Given the description of an element on the screen output the (x, y) to click on. 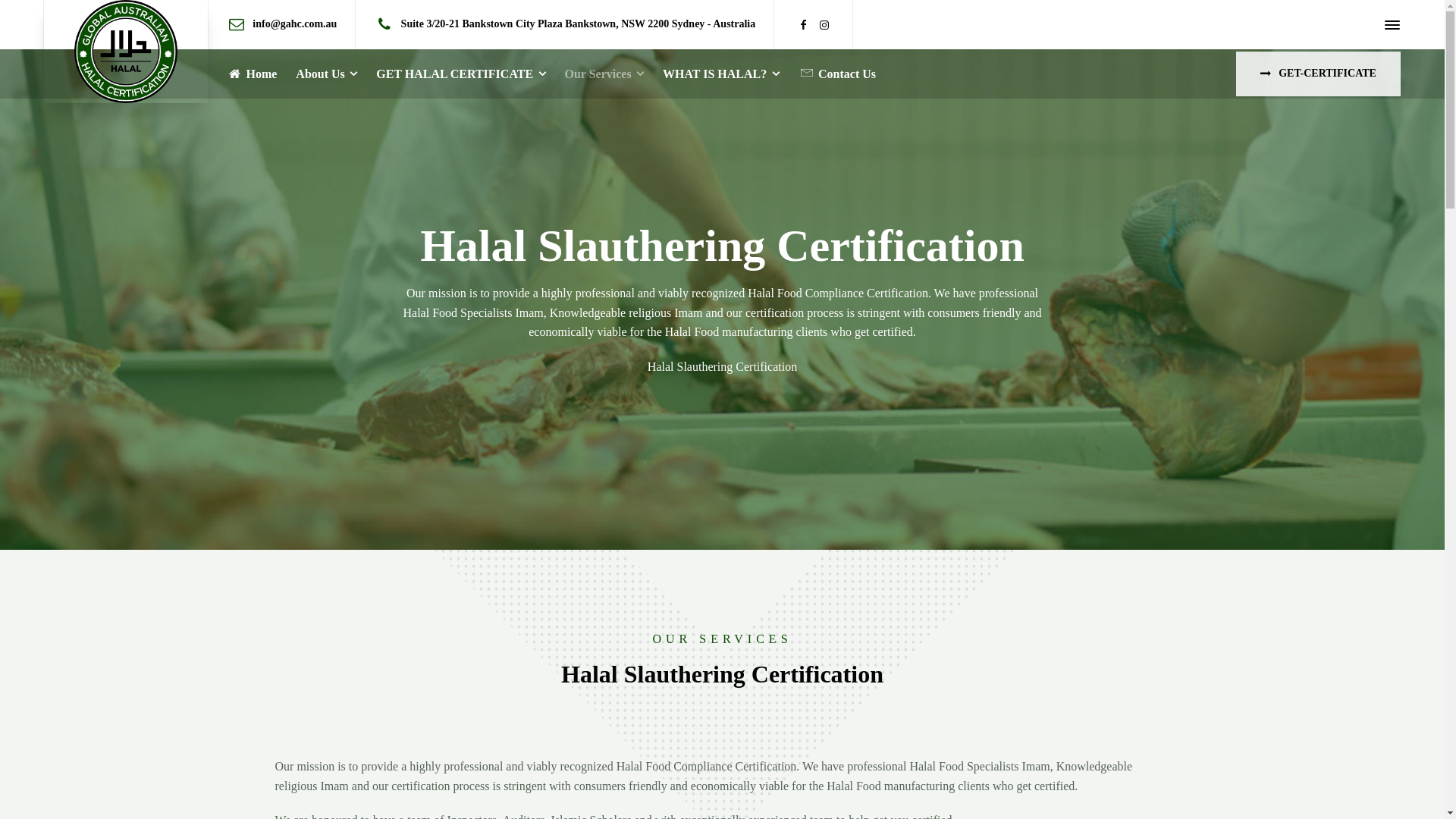
Instagram Element type: hover (823, 25)
GAHC Element type: hover (125, 51)
info@gahc.com.au Element type: text (294, 23)
GET HALAL CERTIFICATE Element type: text (461, 73)
WHAT IS HALAL? Element type: text (721, 73)
About Us Element type: text (326, 73)
Home Element type: text (251, 73)
GET-CERTIFICATE Element type: text (1318, 73)
Contact Us Element type: text (837, 73)
Our Services Element type: text (604, 73)
Facebook Element type: hover (802, 25)
